Given the description of an element on the screen output the (x, y) to click on. 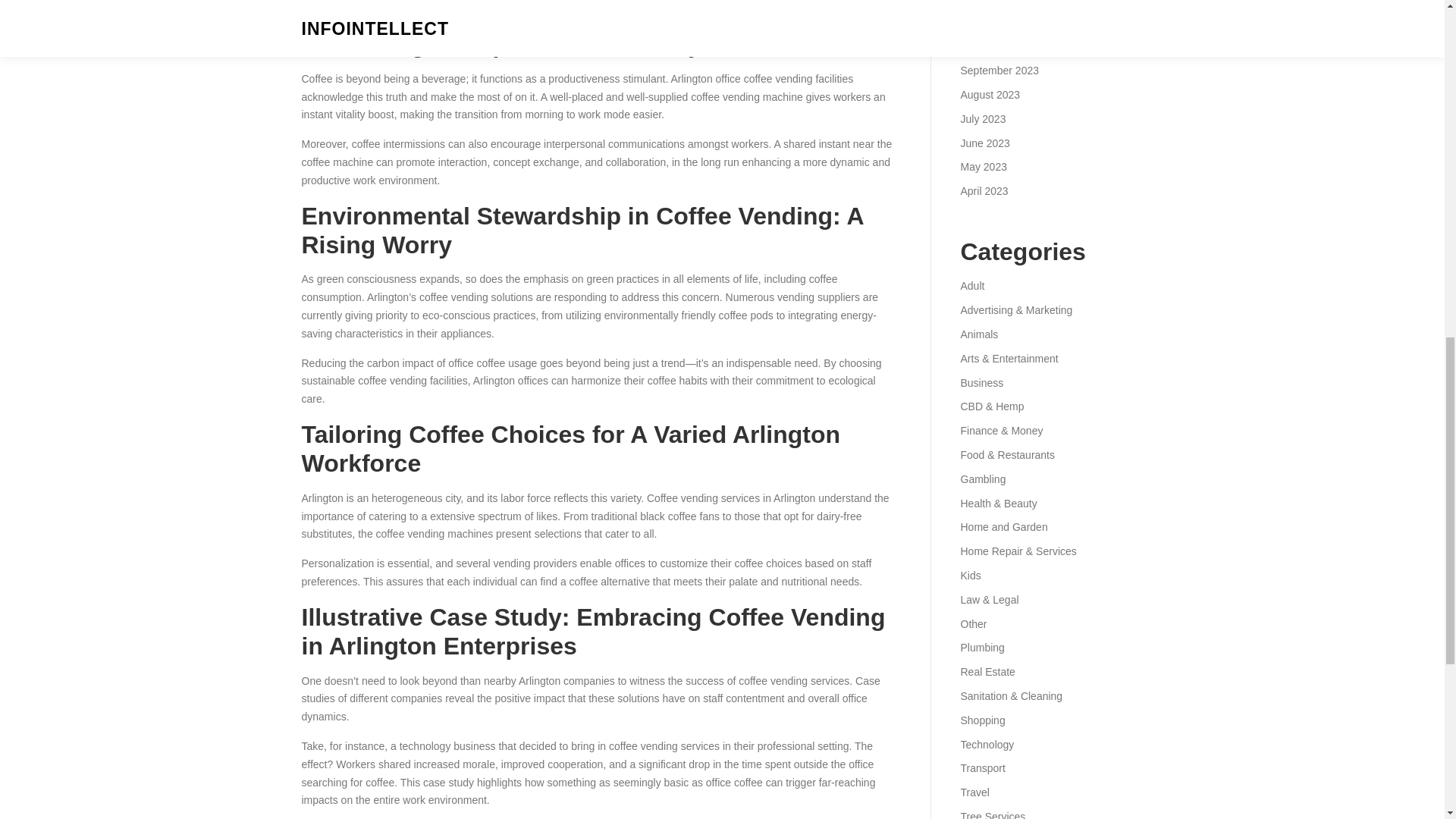
November 2023 (997, 22)
August 2023 (989, 94)
May 2023 (982, 166)
December 2023 (997, 2)
Business (981, 382)
April 2023 (983, 191)
June 2023 (984, 143)
September 2023 (999, 70)
Adult (971, 285)
July 2023 (982, 119)
